Given the description of an element on the screen output the (x, y) to click on. 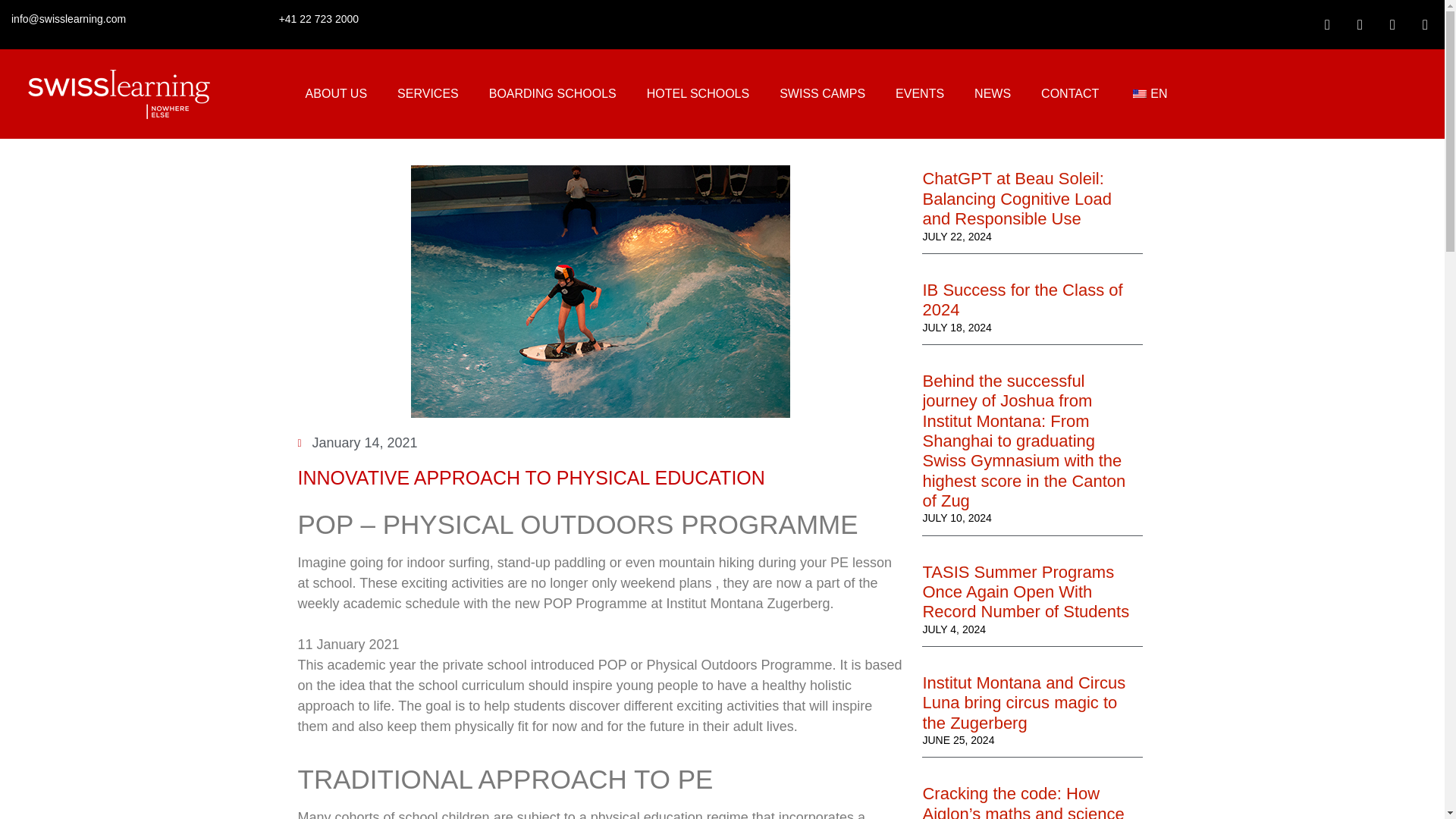
HOTEL SCHOOLS (697, 93)
English (1139, 93)
BOARDING SCHOOLS (552, 93)
NEWS (992, 93)
SWISS CAMPS (822, 93)
SERVICES (427, 93)
ABOUT US (335, 93)
CONTACT (1069, 93)
EVENTS (919, 93)
